Given the description of an element on the screen output the (x, y) to click on. 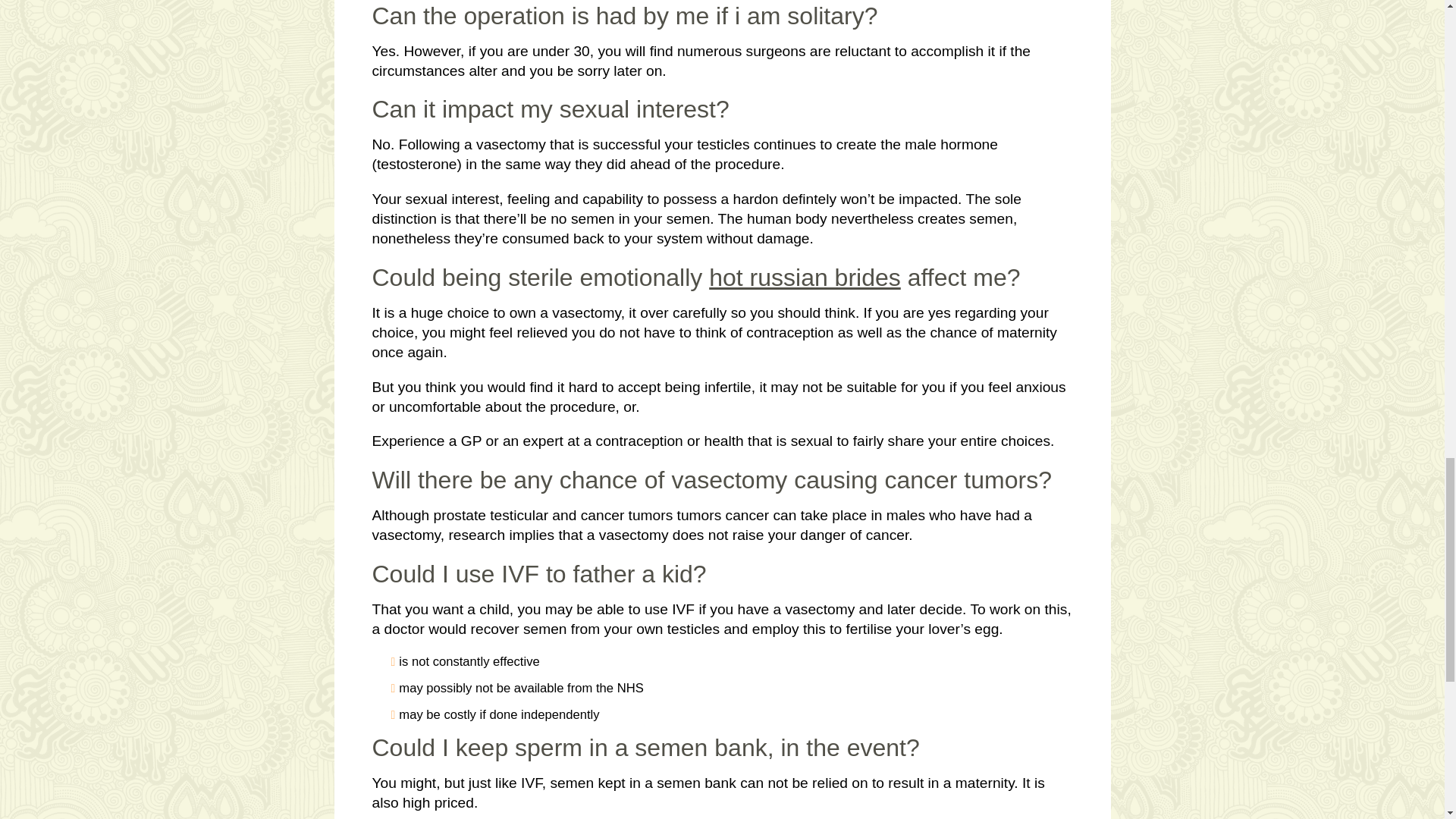
hot russian brides (805, 277)
